Given the description of an element on the screen output the (x, y) to click on. 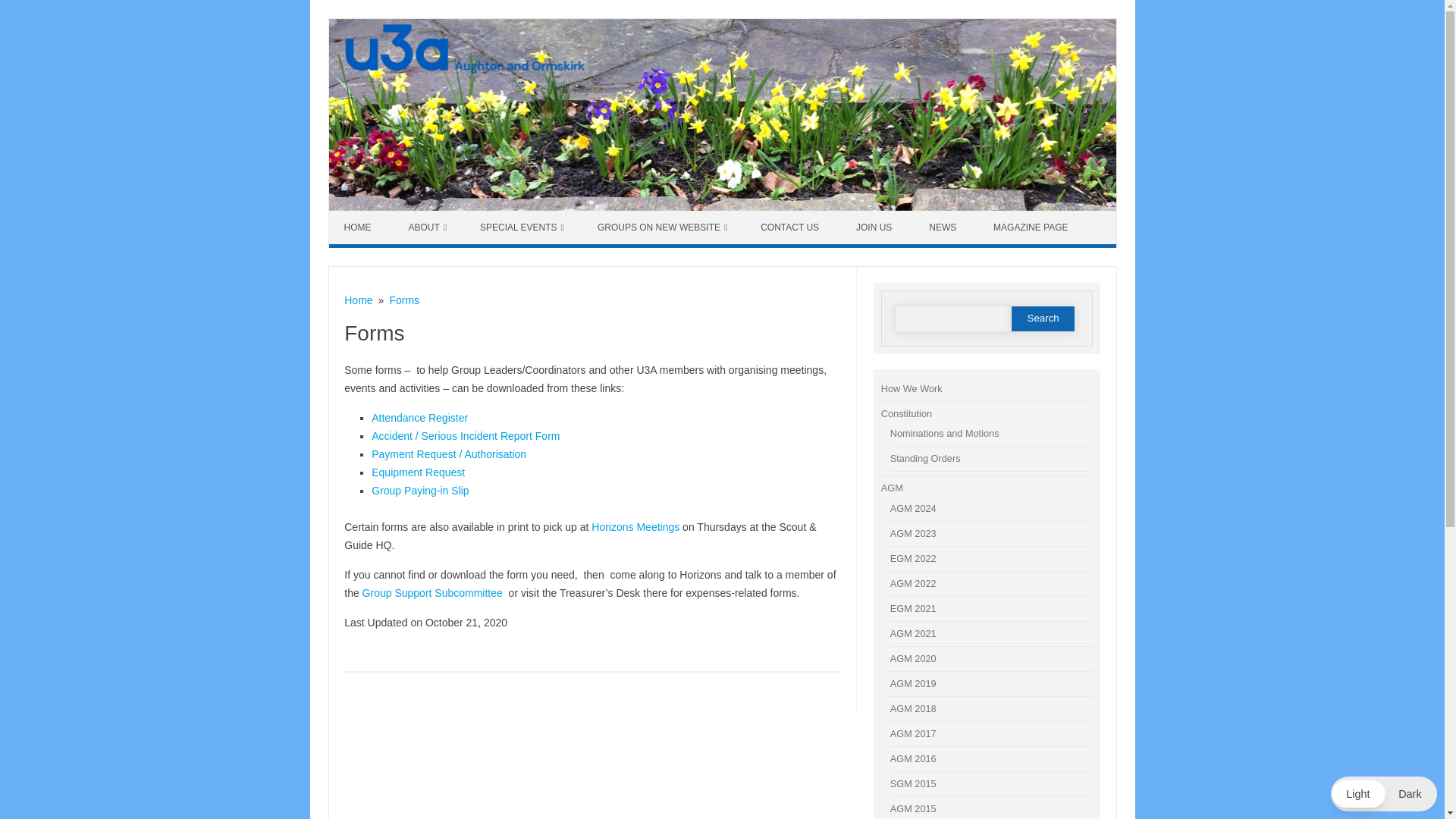
Search (1042, 318)
MAGAZINE PAGE (1032, 227)
Attendance Register (419, 417)
Group Support Subcommittee (432, 592)
CONTACT US (791, 227)
Search (1042, 318)
Skip to content (363, 215)
Forms (403, 300)
JOIN US (876, 227)
SPECIAL EVENTS (521, 227)
Group Paying-in Slip (419, 490)
How We Work (911, 388)
Equipment Request (417, 472)
ABOUT (427, 227)
GROUPS ON NEW WEBSITE (662, 227)
